Given the description of an element on the screen output the (x, y) to click on. 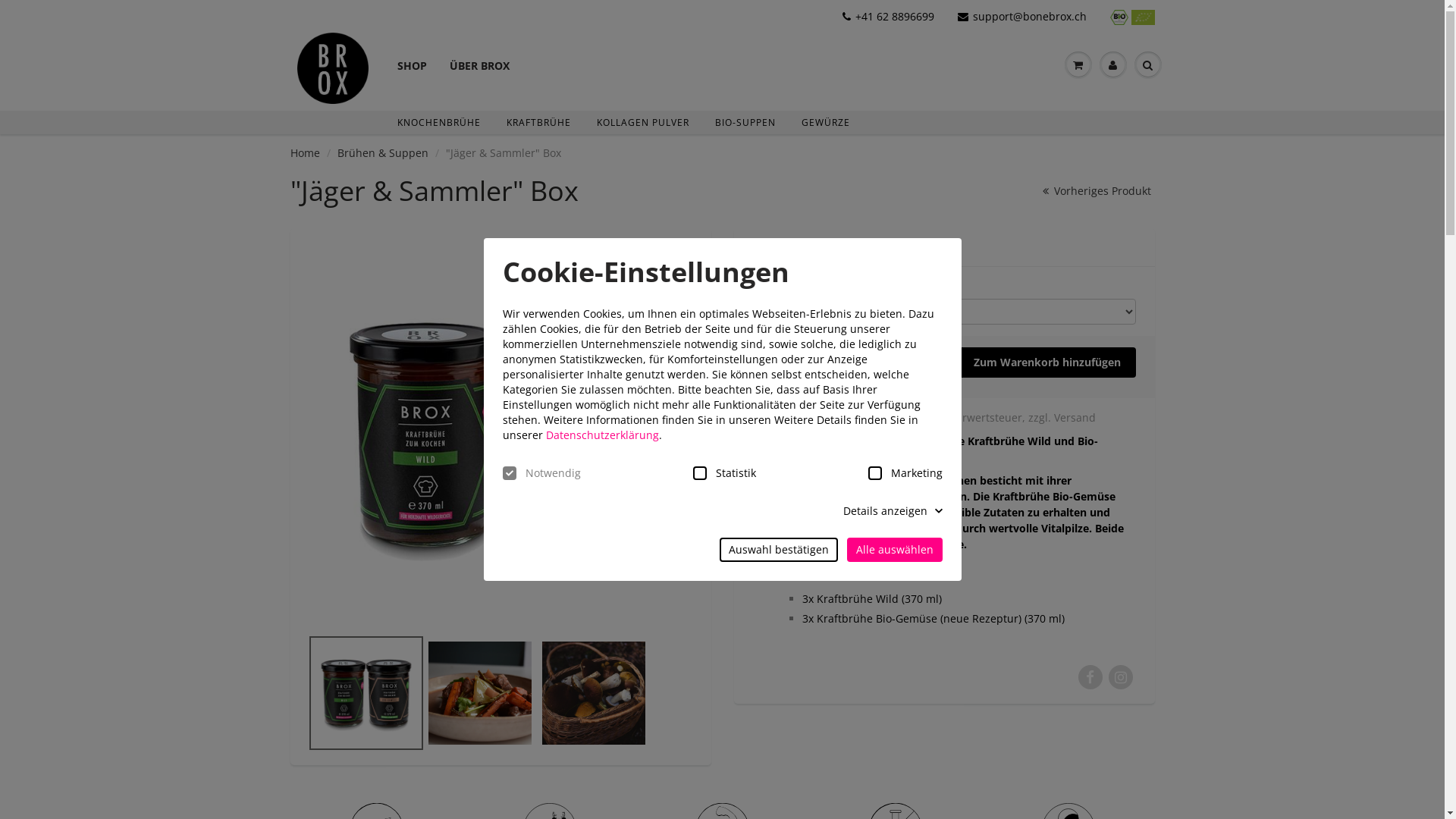
Home Element type: text (304, 152)
BIO-SUPPEN Element type: text (745, 122)
SHOP Element type: text (411, 52)
support@bonebrox.ch Element type: text (1021, 16)
+41 62 8896699 Element type: text (888, 16)
KOLLAGEN PULVER Element type: text (642, 122)
Vorheriges Produkt Element type: text (1094, 190)
